Given the description of an element on the screen output the (x, y) to click on. 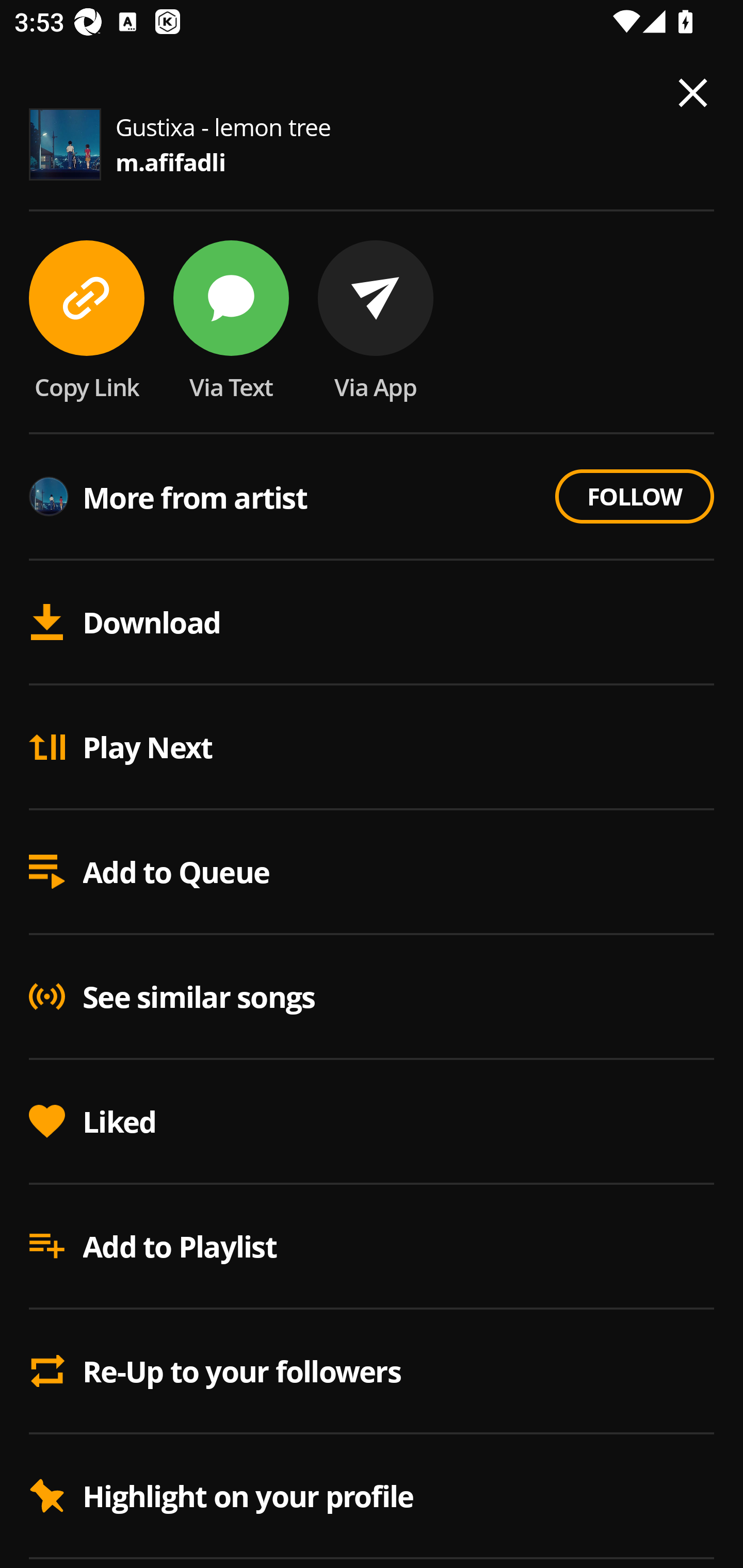
Close (693, 93)
More from artist FOLLOW Follow (371, 497)
FOLLOW Follow (634, 495)
Download (371, 623)
Play Next (371, 747)
Add to Queue (371, 872)
See similar songs (371, 996)
Liked (371, 1122)
Add to Playlist (371, 1247)
Re-Up to your followers (371, 1371)
